Given the description of an element on the screen output the (x, y) to click on. 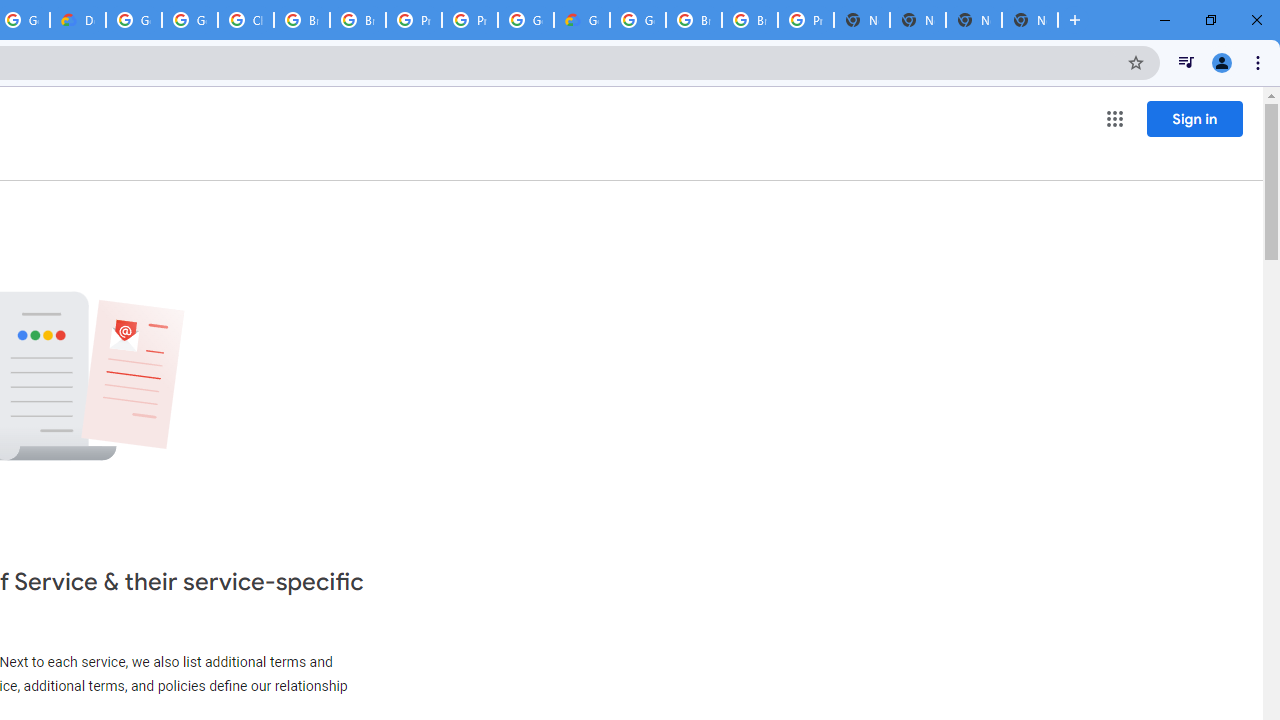
New Tab (861, 20)
New Tab (973, 20)
Browse Chrome as a guest - Computer - Google Chrome Help (693, 20)
New Tab (1030, 20)
Browse Chrome as a guest - Computer - Google Chrome Help (301, 20)
